Given the description of an element on the screen output the (x, y) to click on. 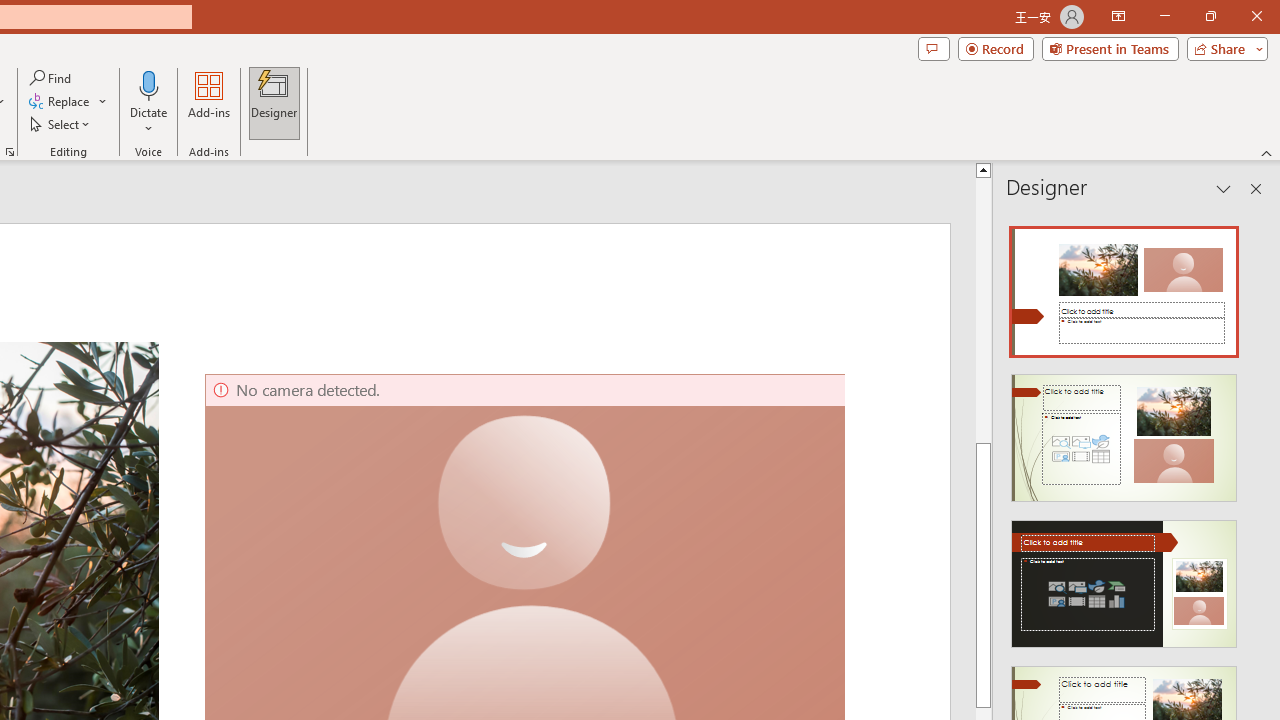
Design Idea (1124, 577)
Recommended Design: Design Idea (1124, 286)
